Given the description of an element on the screen output the (x, y) to click on. 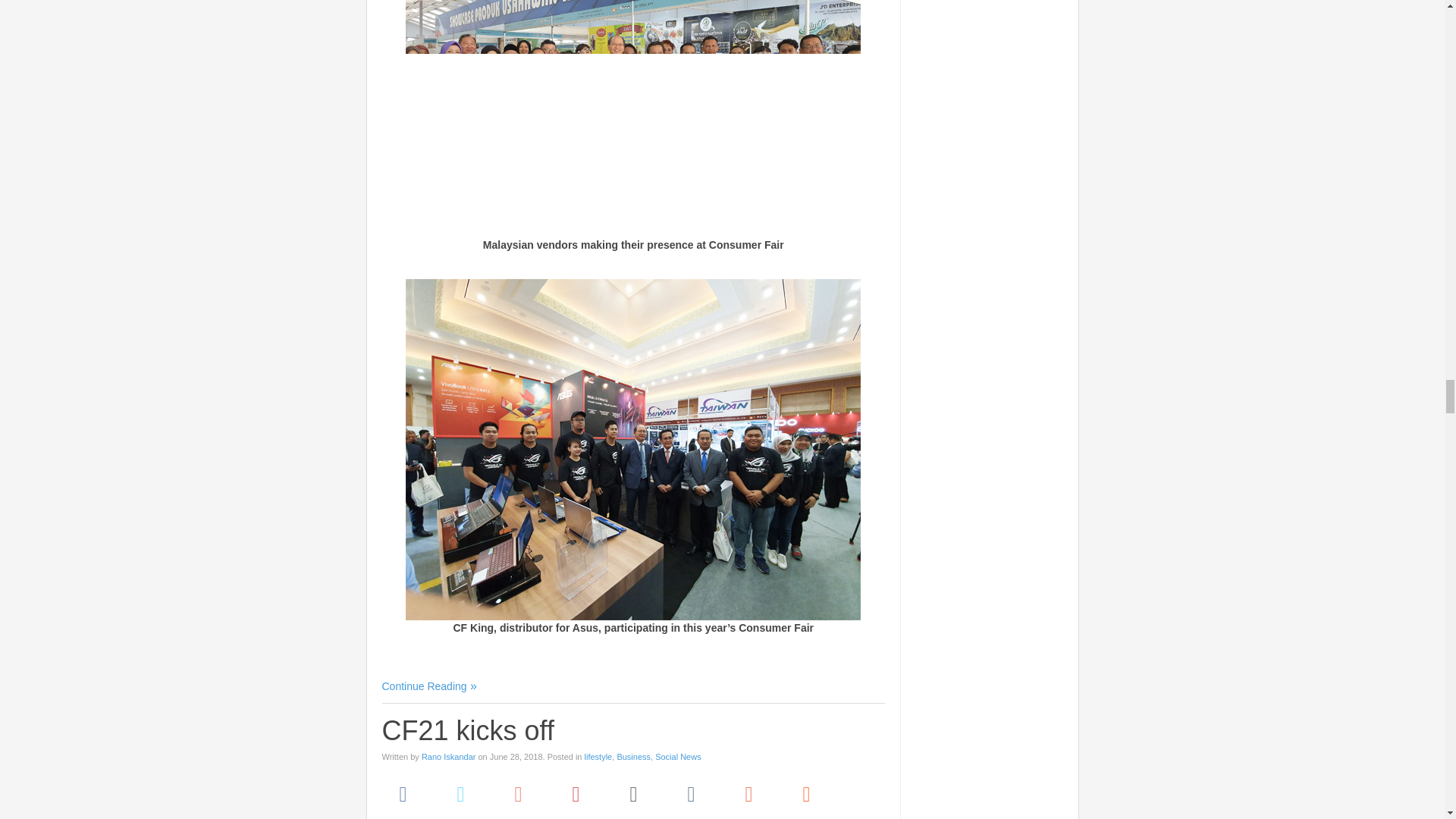
CF21 kicks off (467, 730)
Business (632, 756)
lifestyle (598, 756)
Social News (678, 756)
Rano Iskandar (449, 756)
Consumer Fair kicks off (429, 686)
Facebook (403, 793)
Rano Iskandar (449, 756)
Google Plus (518, 793)
Twitter (460, 793)
